Given the description of an element on the screen output the (x, y) to click on. 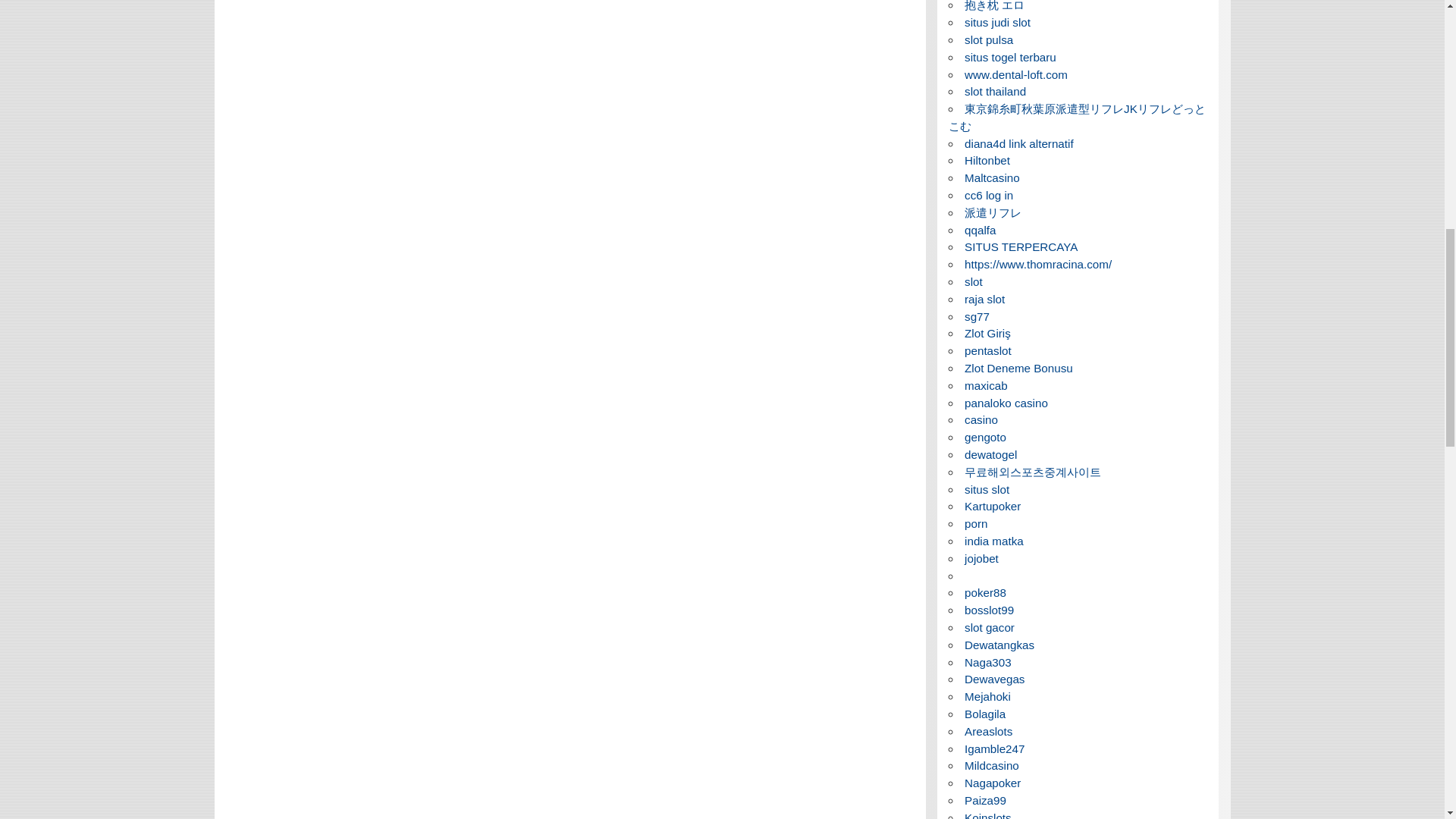
diana4d link alternatif (1018, 143)
situs togel terbaru (1010, 56)
slot thailand (994, 91)
situs judi slot (996, 21)
slot pulsa (988, 39)
www.dental-loft.com (1015, 74)
